Given the description of an element on the screen output the (x, y) to click on. 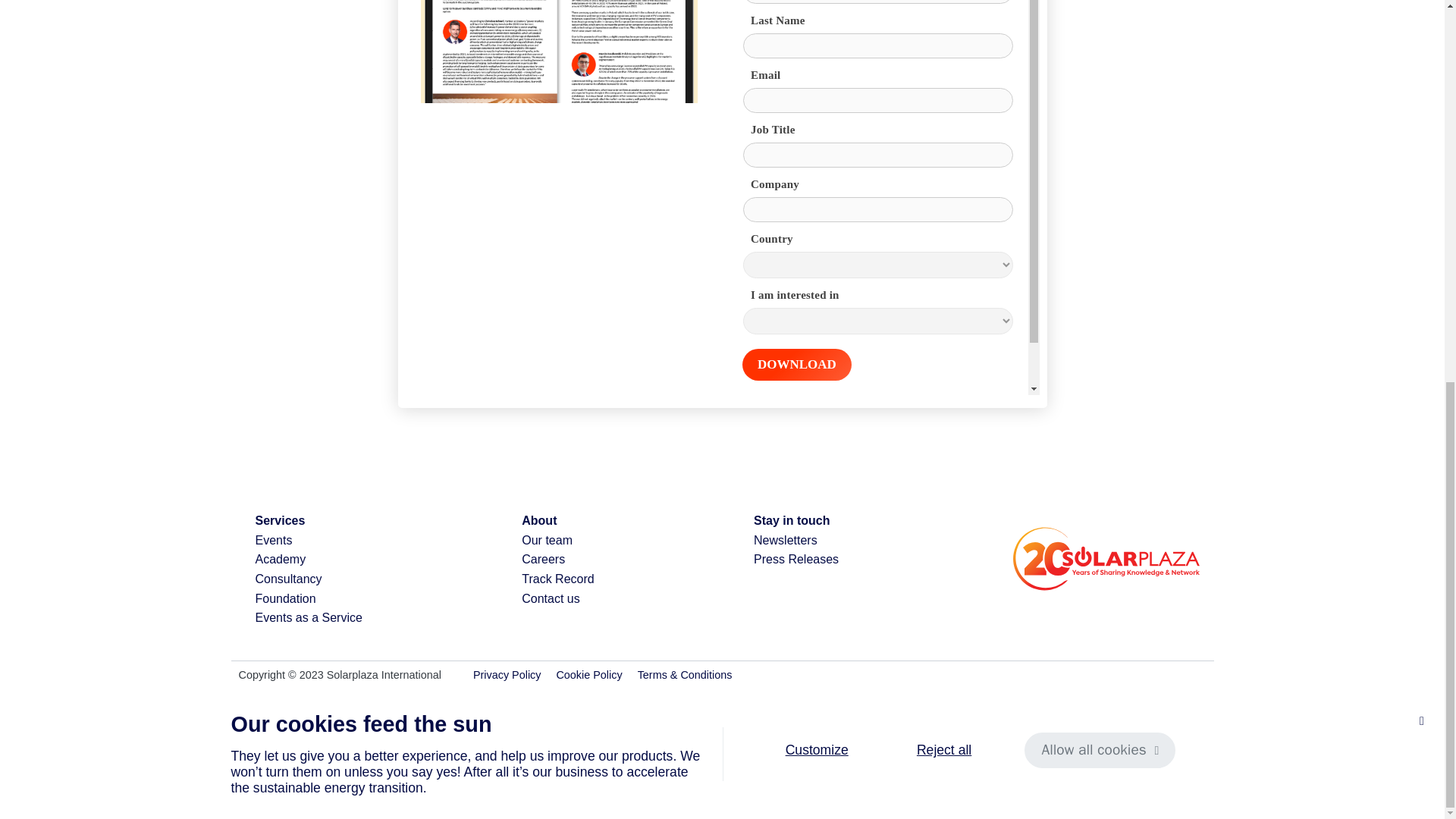
Our team (546, 540)
Careers (542, 558)
Academy (279, 558)
Newsletters (785, 540)
Customize (816, 36)
Privacy Policy (507, 674)
Contact us (550, 598)
Events (273, 540)
Consultancy (287, 578)
Allow all cookies (1099, 36)
Cookie Policy (588, 674)
Track Record (557, 578)
Foundation (284, 598)
Reject all (944, 36)
Press Releases (796, 558)
